Given the description of an element on the screen output the (x, y) to click on. 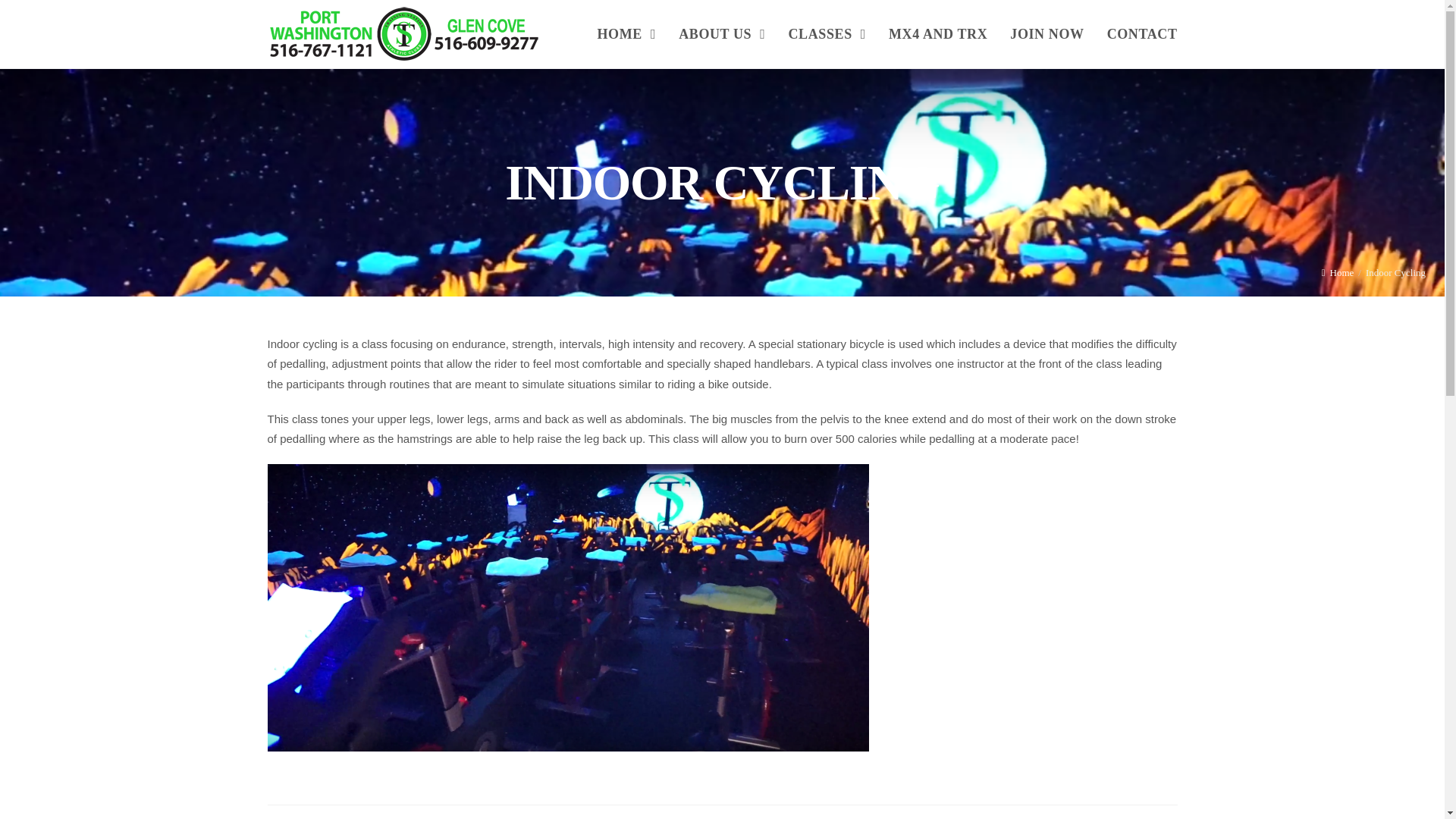
CONTACT (1142, 33)
CLASSES (826, 33)
HOME (627, 33)
ABOUT US (721, 33)
Home (1338, 272)
MX4 AND TRX (937, 33)
JOIN NOW (1046, 33)
